Given the description of an element on the screen output the (x, y) to click on. 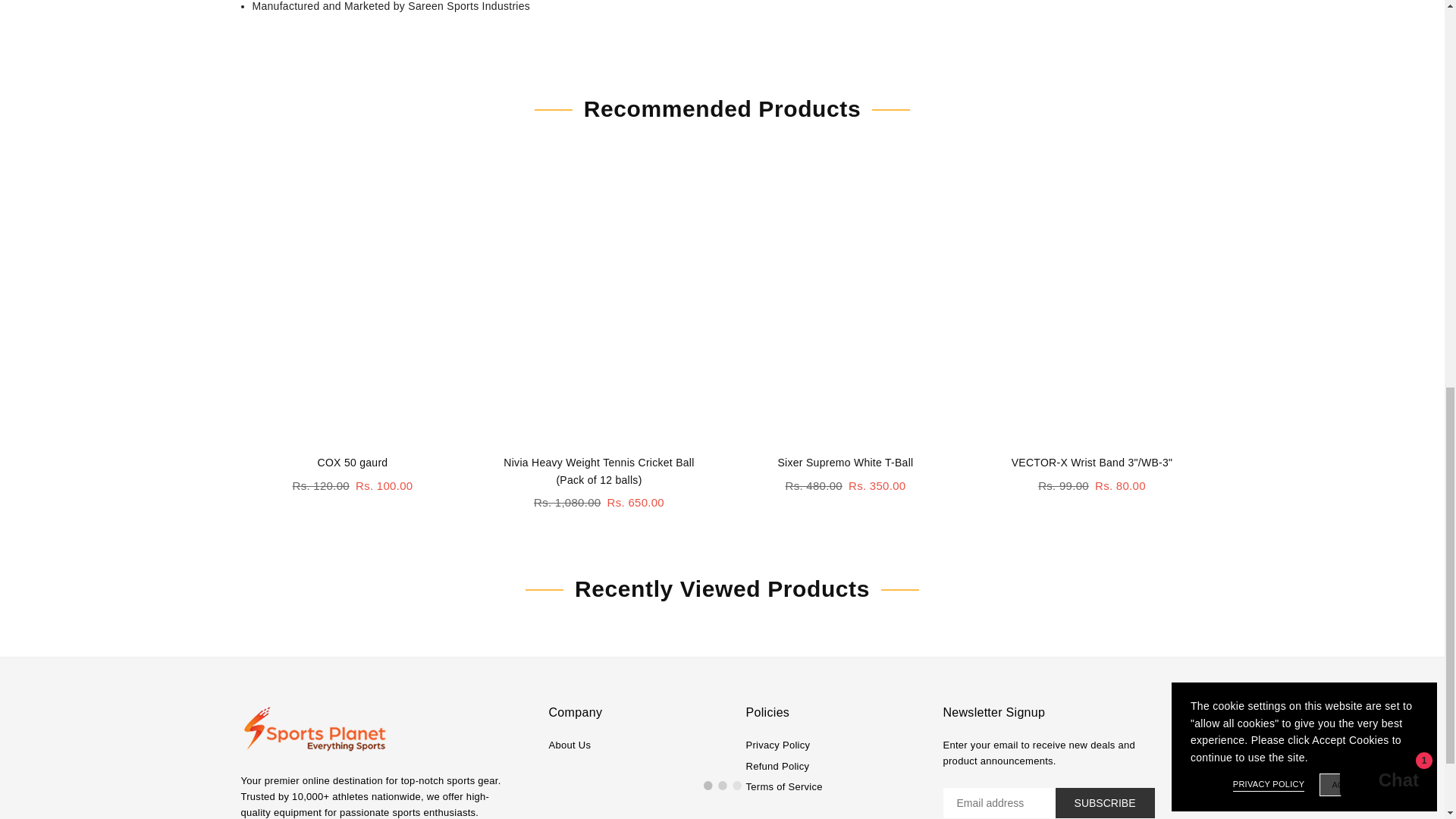
SUBSCRIBE (1104, 802)
